Given the description of an element on the screen output the (x, y) to click on. 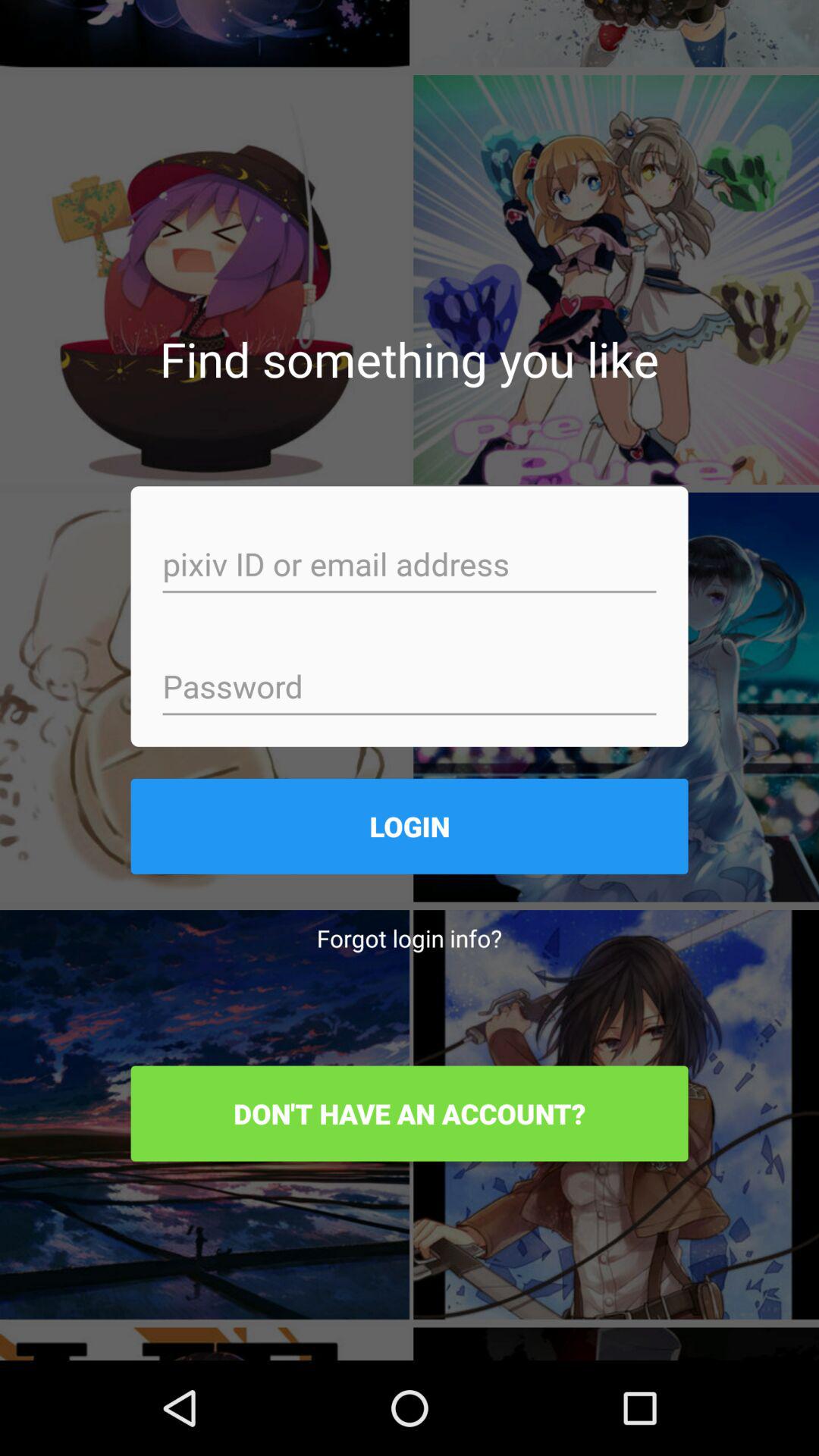
flip to the don t have item (409, 1113)
